Given the description of an element on the screen output the (x, y) to click on. 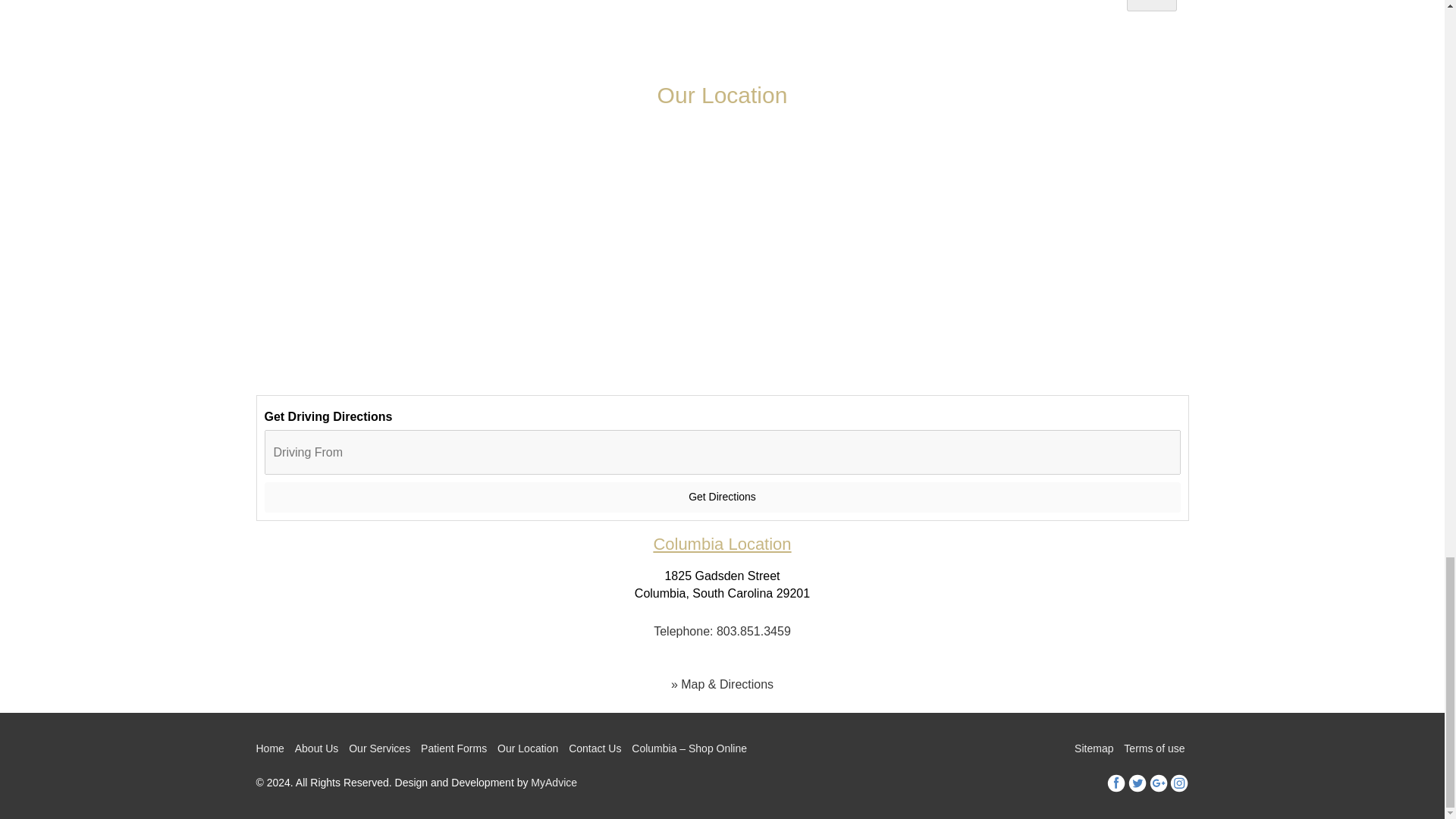
Get Directions (721, 497)
Submit (1151, 5)
